Given the description of an element on the screen output the (x, y) to click on. 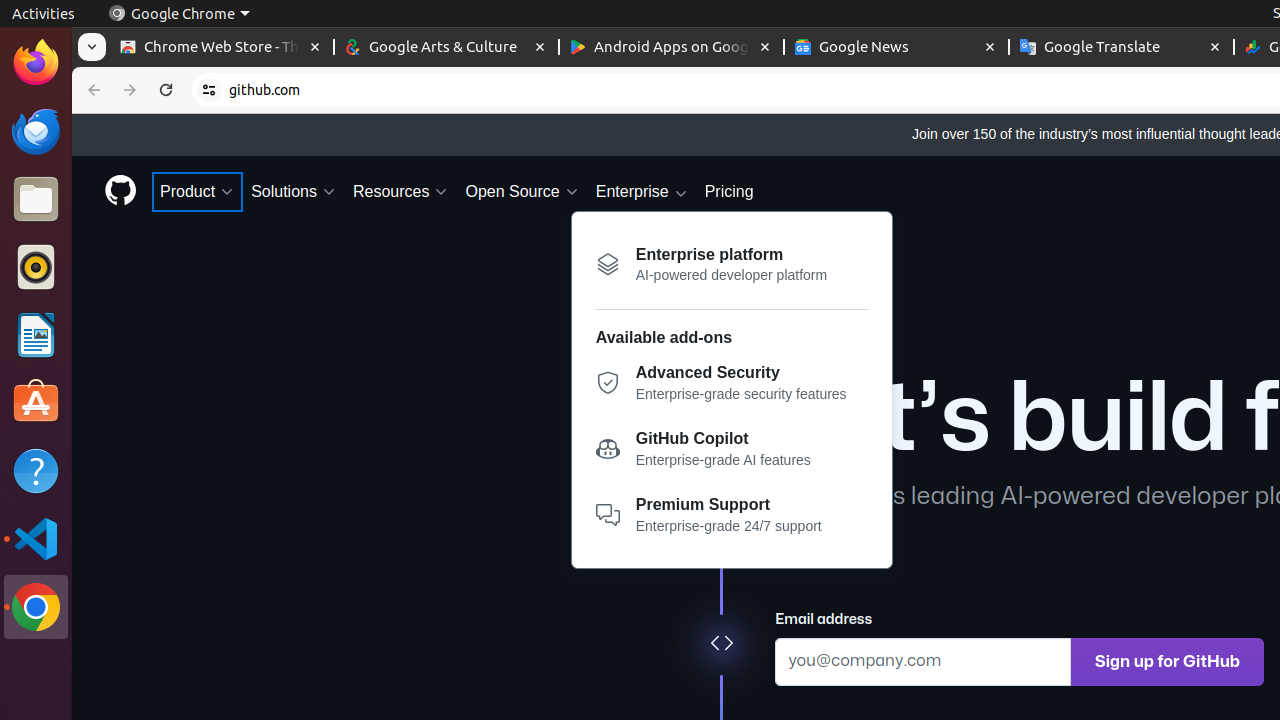
Files Element type: push-button (36, 199)
Open Source Element type: push-button (522, 191)
Google News - Memory usage - 51.2 MB Element type: page-tab (896, 47)
Enterprise platform AI-powered developer platform Element type: link (731, 264)
Premium Support Enterprise-grade 24/7 support Element type: link (731, 515)
